Given the description of an element on the screen output the (x, y) to click on. 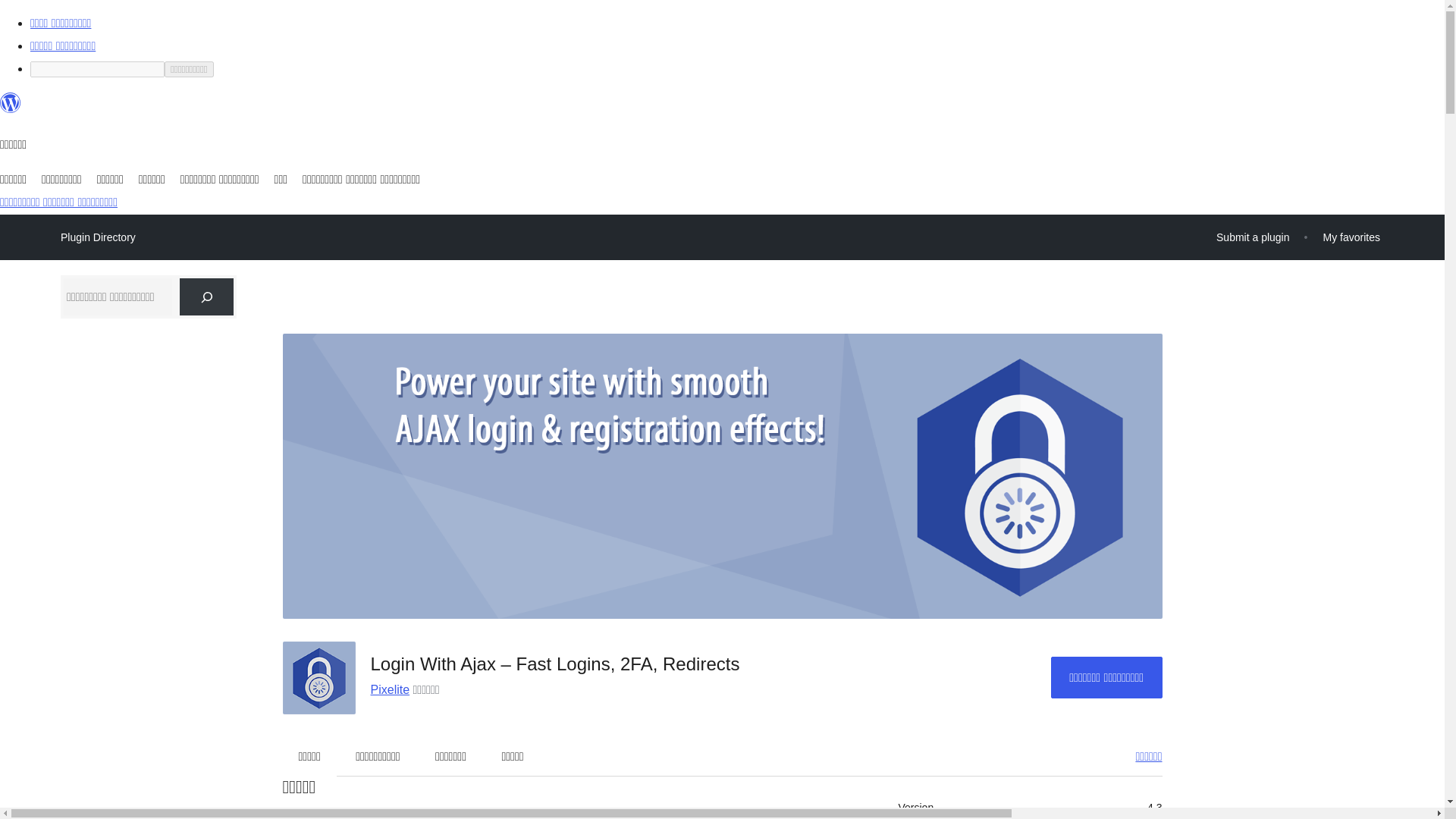
WordPress.org (10, 102)
WordPress.org (10, 109)
Submit a plugin (1253, 236)
Plugin Directory (97, 237)
Pixelite (389, 689)
My favorites (1351, 236)
